Given the description of an element on the screen output the (x, y) to click on. 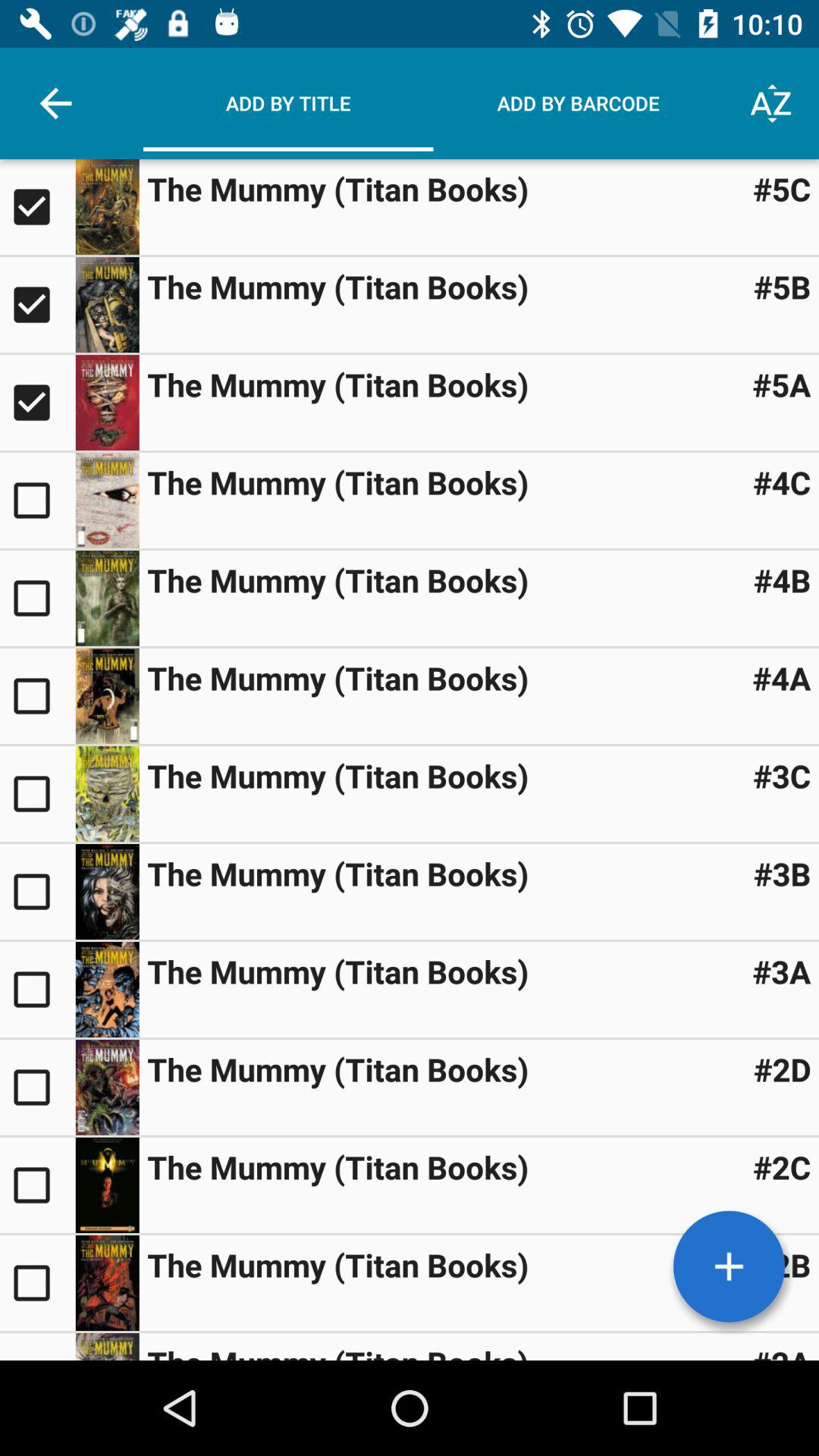
uncheck the selected option (37, 304)
